Given the description of an element on the screen output the (x, y) to click on. 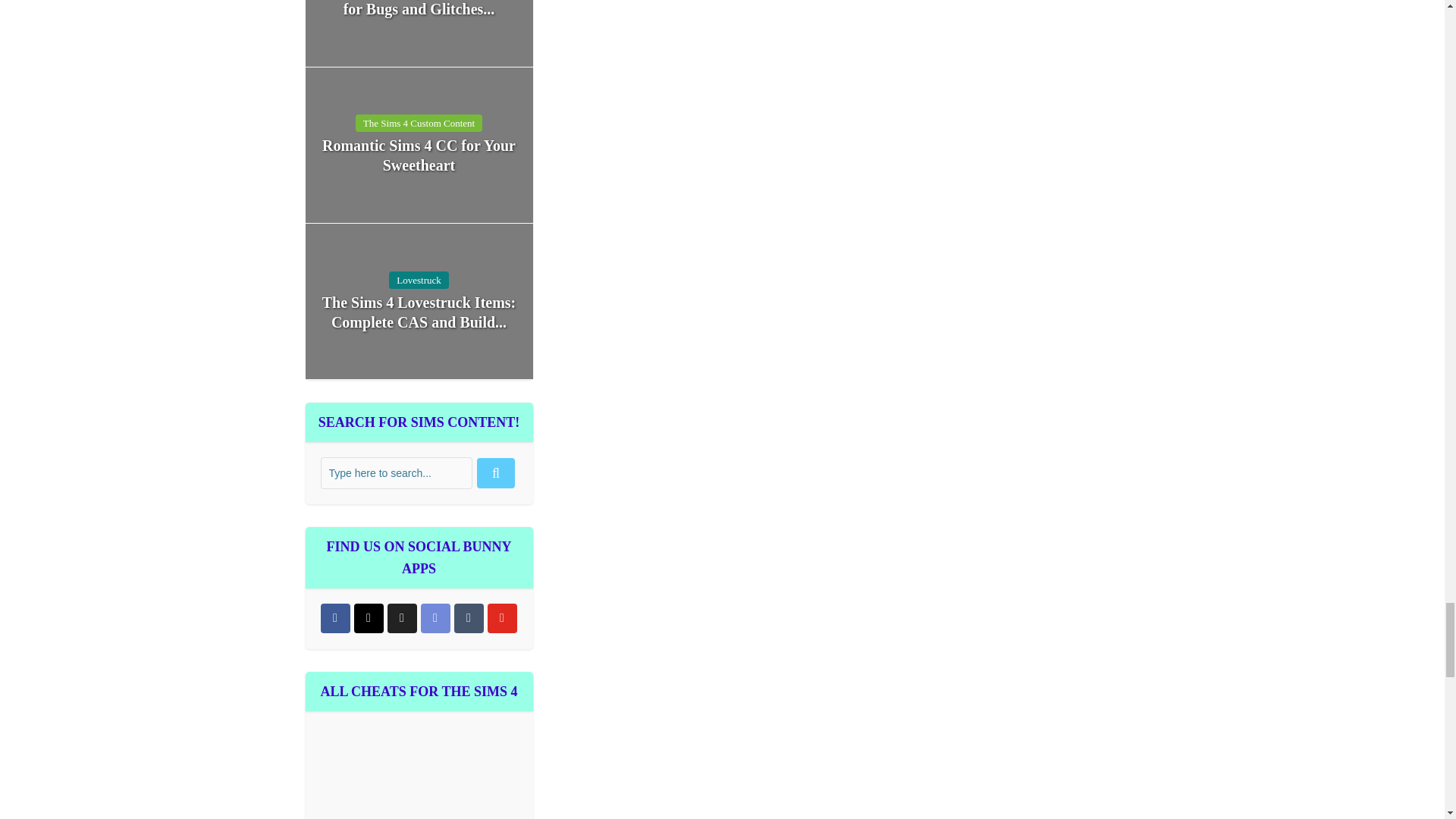
Type here to search... (395, 472)
Type here to search... (395, 472)
